Given the description of an element on the screen output the (x, y) to click on. 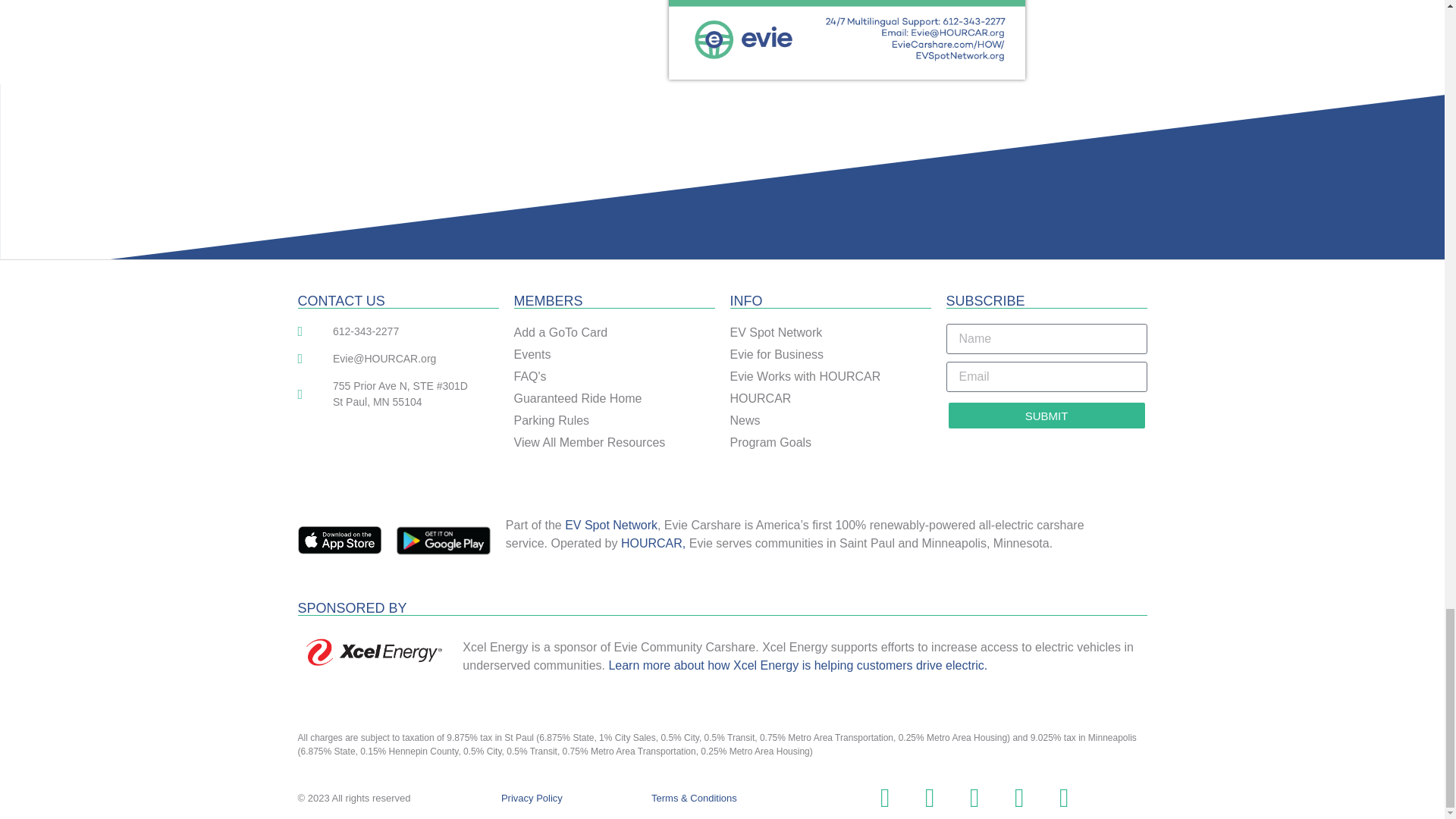
Program Goals (829, 443)
News (829, 420)
Guaranteed Ride Home (613, 398)
HOURCAR, (653, 543)
FAQ's (613, 376)
EV Spot Network (829, 332)
Events (613, 354)
Add a GoTo Card (613, 332)
View All Member Resources (613, 443)
EV Spot Network (611, 524)
Evie Works with HOURCAR (829, 376)
SUBMIT (1046, 415)
Evie for Business (829, 354)
HOURCAR (829, 398)
